Given the description of an element on the screen output the (x, y) to click on. 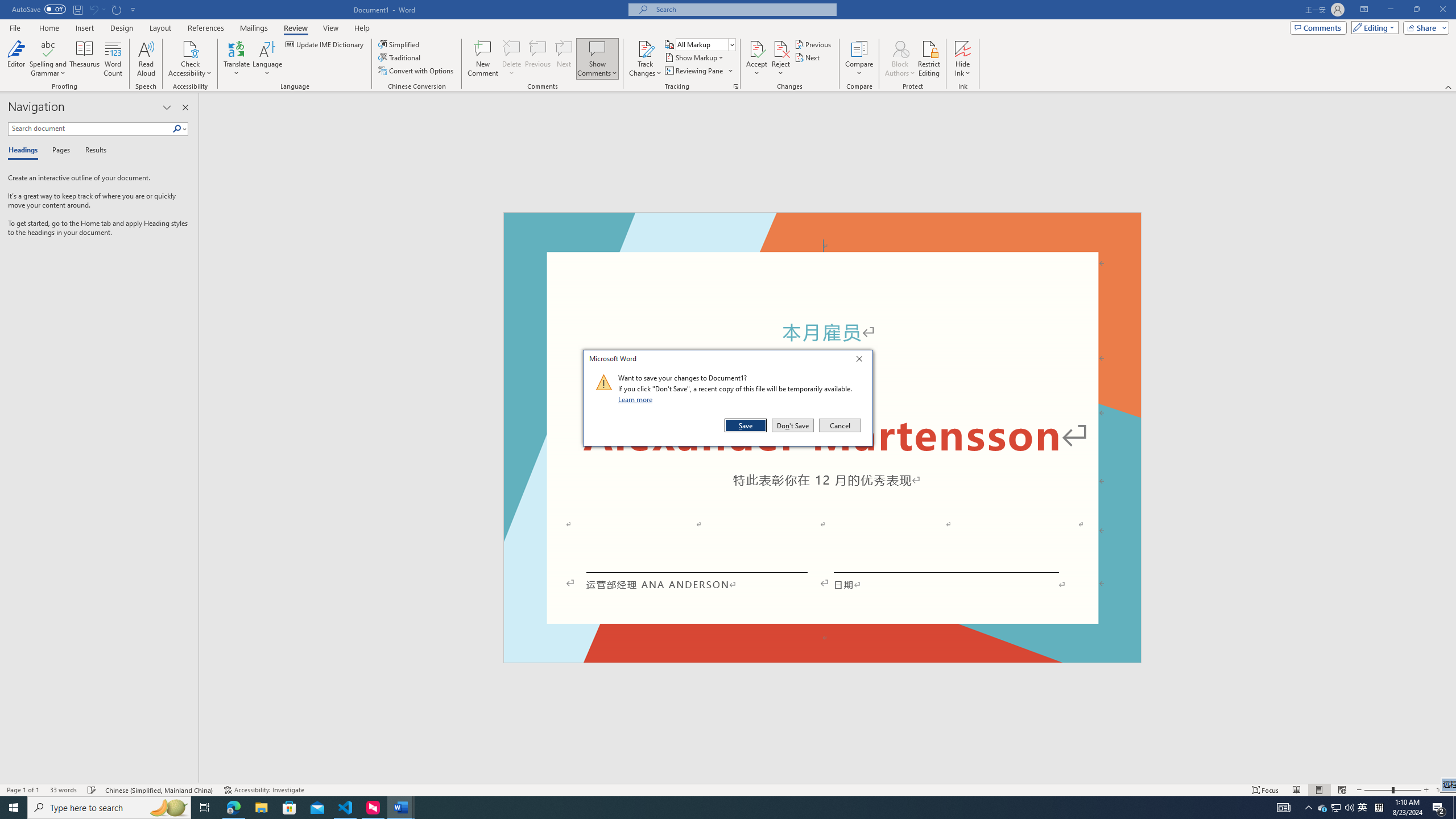
Restrict Editing (929, 58)
Accept (756, 58)
Open (731, 44)
Type here to search (108, 807)
References (205, 28)
User Promoted Notification Area (1336, 807)
Visual Studio Code - 1 running window (345, 807)
Read Aloud (145, 58)
Language Chinese (Simplified, Mainland China) (159, 790)
Word Count (113, 58)
Thesaurus... (84, 58)
